Given the description of an element on the screen output the (x, y) to click on. 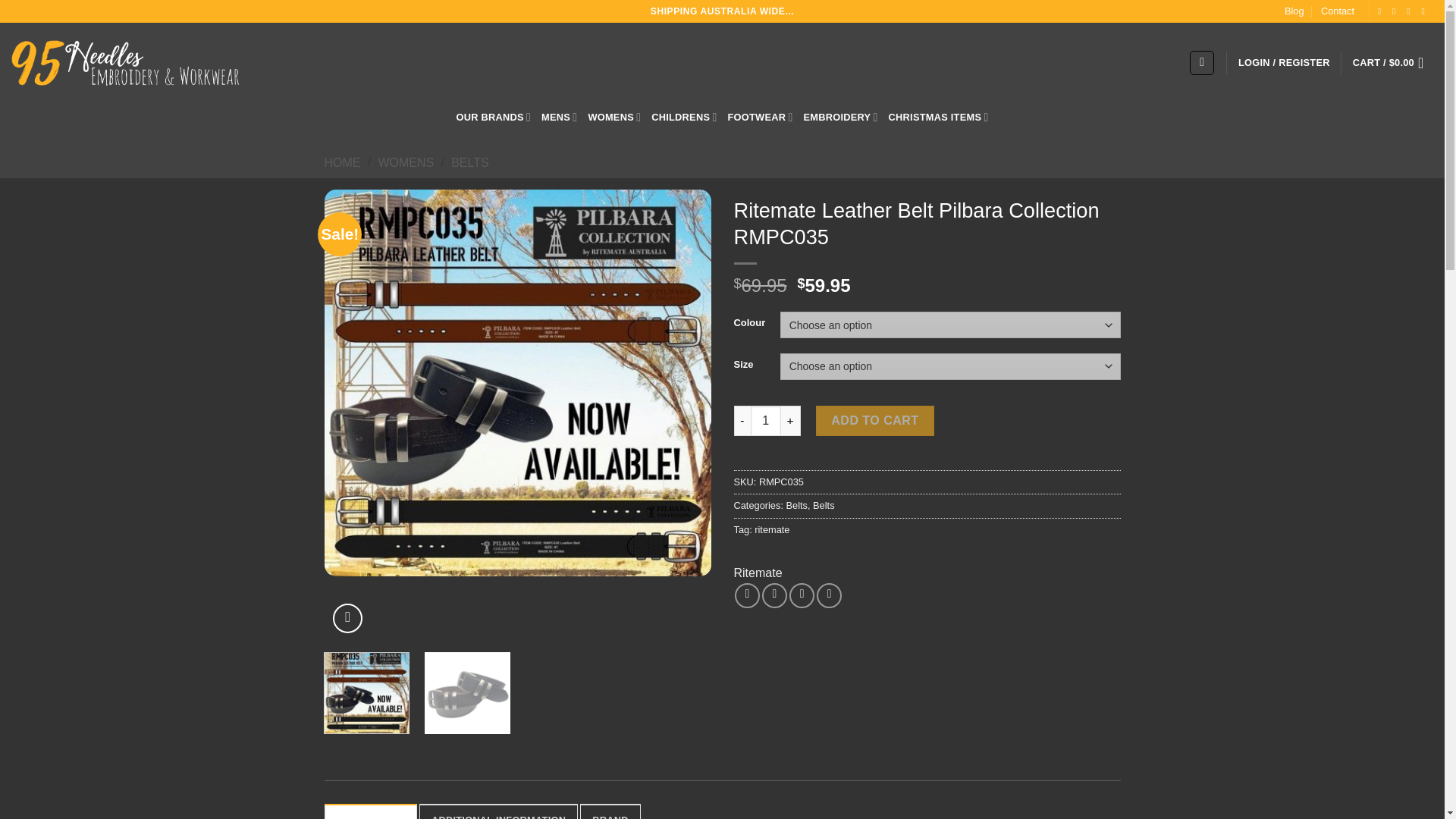
Share on Facebook (747, 595)
Cart (1392, 62)
MENS (558, 116)
FOOTWEAR (760, 116)
View brand (758, 573)
Contact (1337, 11)
Pin on Pinterest (828, 595)
WOMENS (614, 116)
Email to a Friend (801, 595)
CHILDRENS (683, 116)
